Given the description of an element on the screen output the (x, y) to click on. 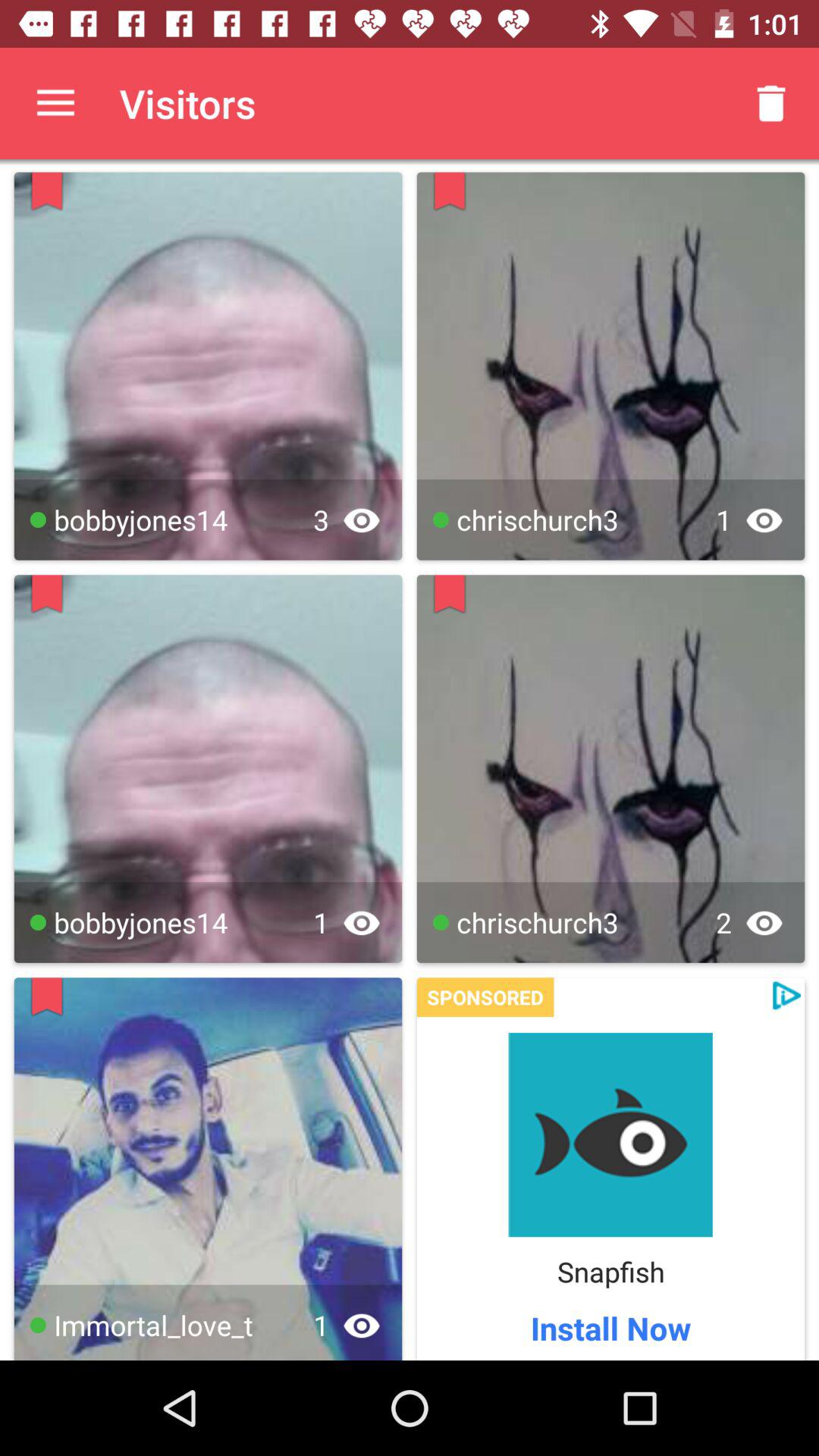
view the app page for snapfish (610, 1134)
